Given the description of an element on the screen output the (x, y) to click on. 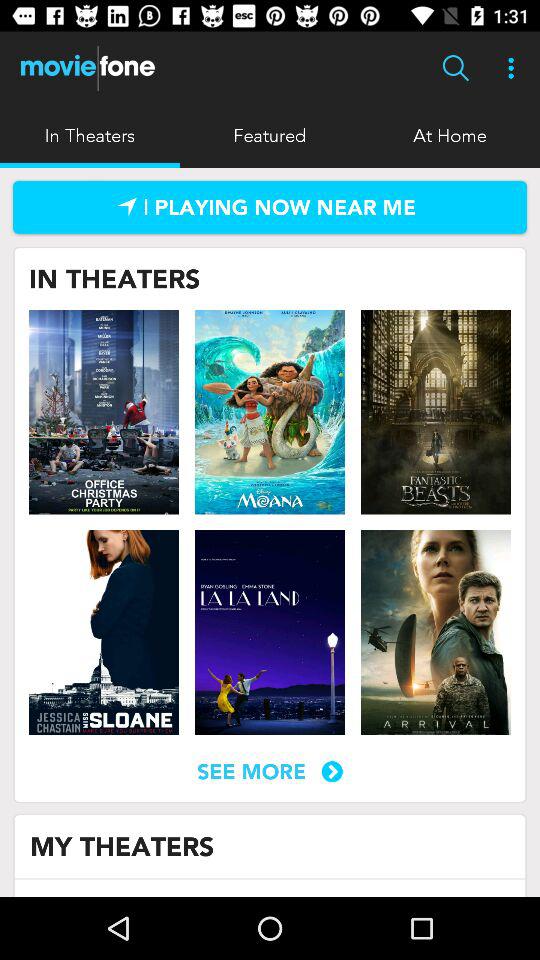
view content (270, 411)
